Given the description of an element on the screen output the (x, y) to click on. 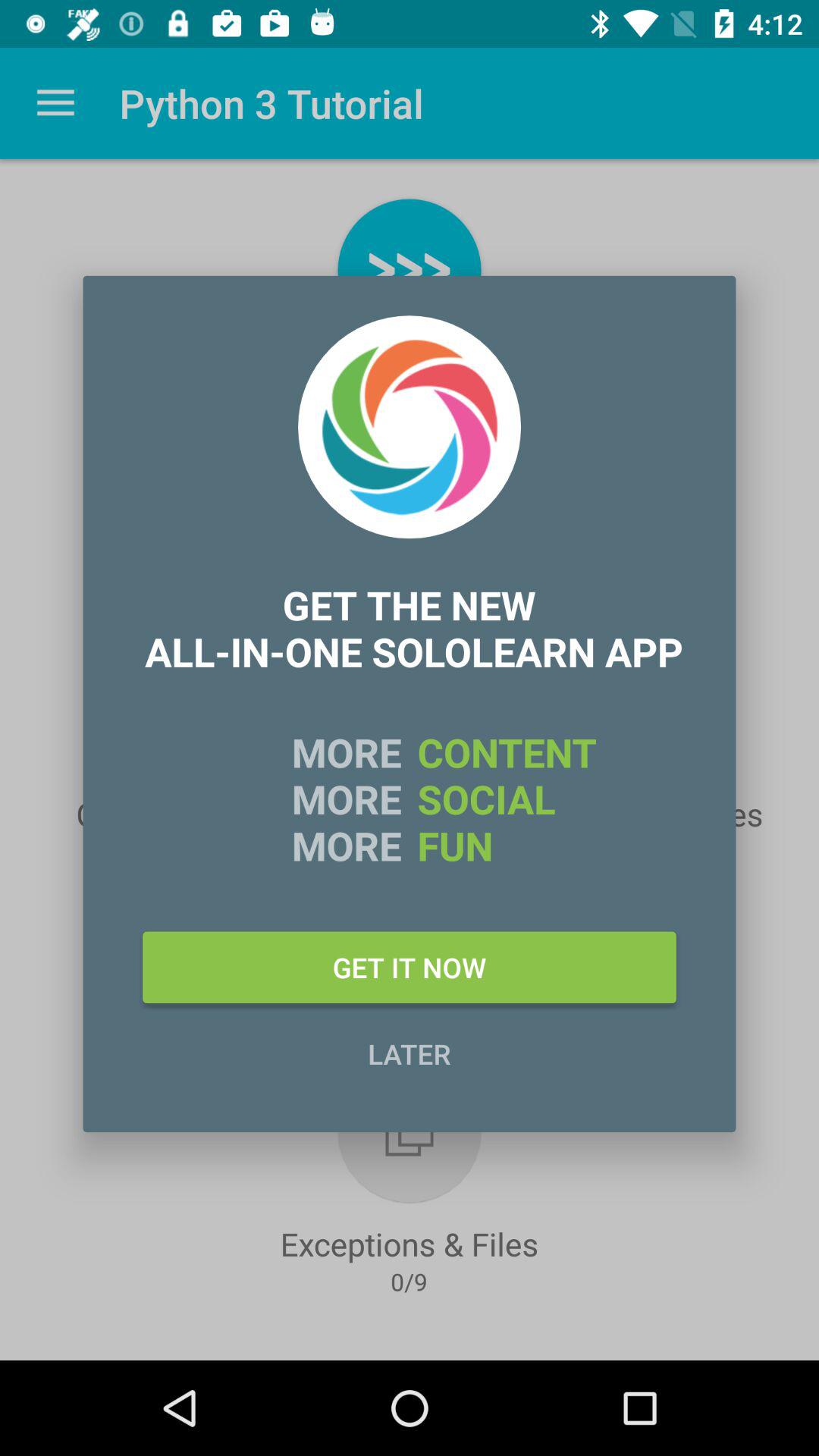
click icon below get it now (409, 1053)
